Given the description of an element on the screen output the (x, y) to click on. 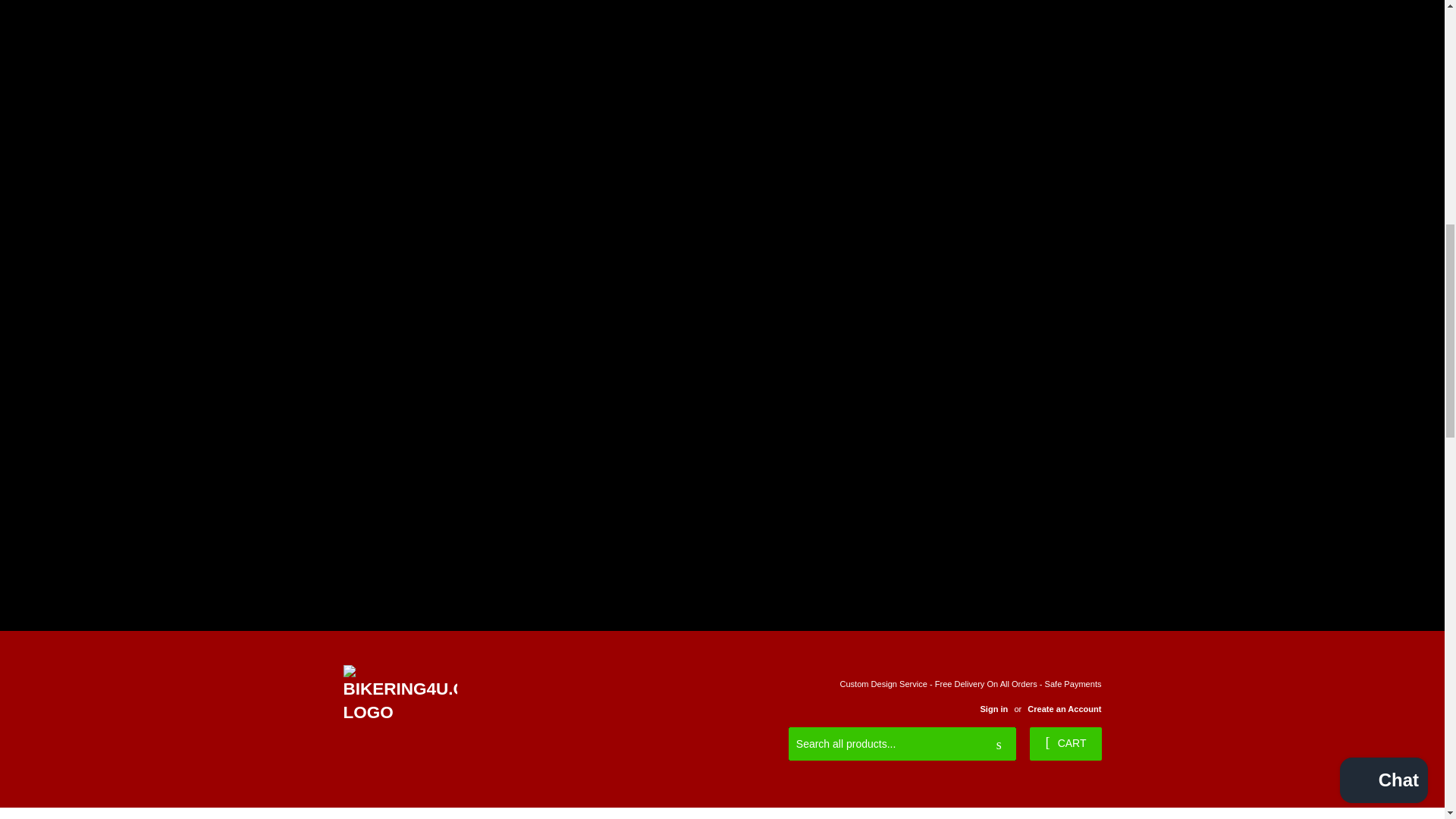
CONTACT US (666, 813)
Sign in (993, 708)
HOME (359, 813)
SHOP HERE (434, 813)
TRACK YOUR ORDER (550, 813)
Search (998, 744)
Create an Account (1063, 708)
CART (1064, 743)
